Given the description of an element on the screen output the (x, y) to click on. 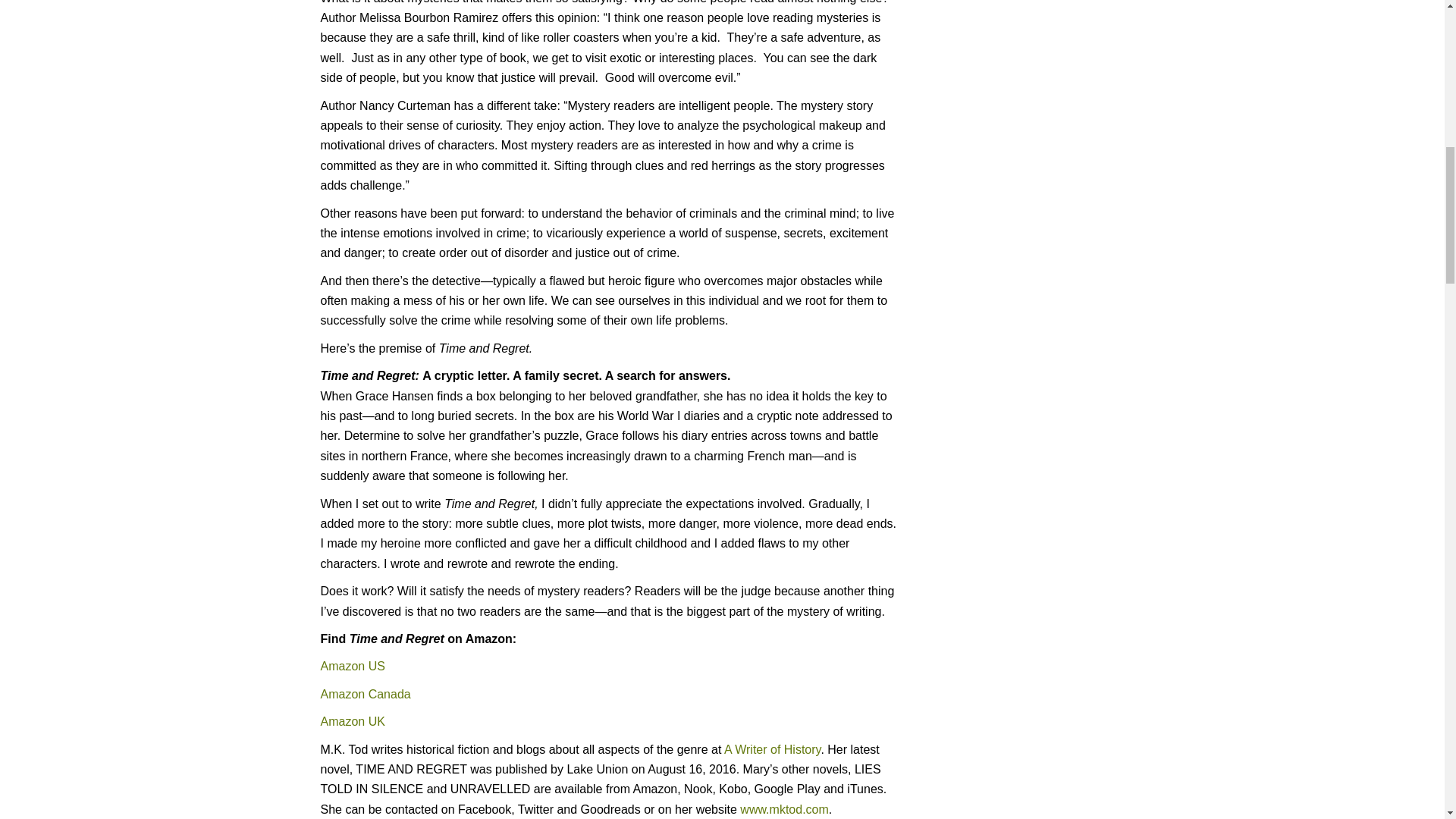
A Writer of History (772, 748)
Amazon Canada (365, 694)
Amazon UK (352, 721)
Amazon US  (354, 666)
www.mktod.com (783, 809)
